Given the description of an element on the screen output the (x, y) to click on. 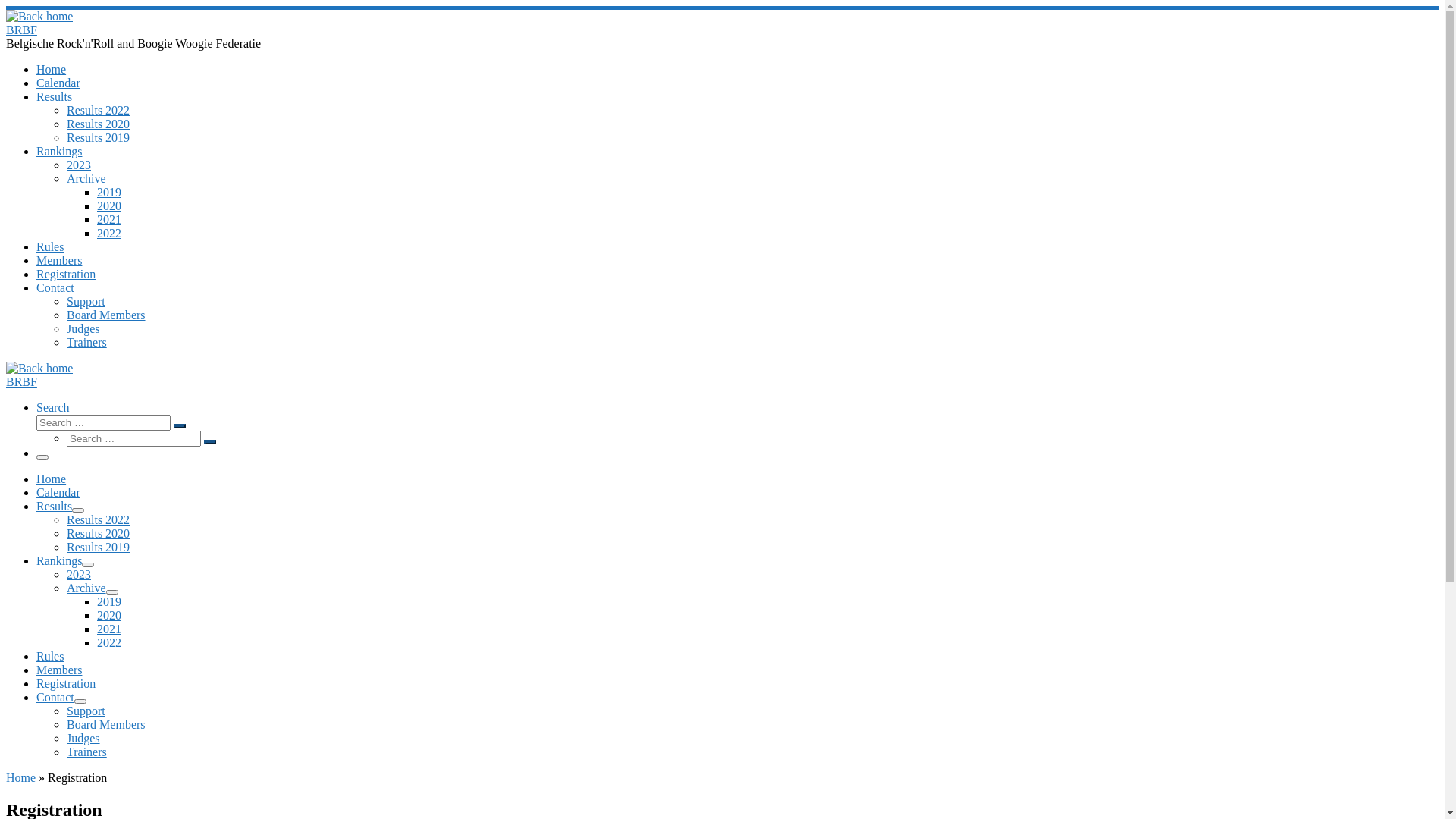
Rules Element type: text (49, 655)
Trainers Element type: text (86, 751)
Rankings Element type: text (58, 560)
Board Members Element type: text (105, 314)
2020 Element type: text (109, 614)
Home Element type: text (50, 478)
Results Element type: text (54, 96)
Calendar Element type: text (58, 82)
Contact Element type: text (55, 696)
Rules Element type: text (49, 246)
Home Element type: text (20, 777)
Registration Element type: text (65, 273)
2023 Element type: text (78, 573)
BRBF Element type: text (21, 29)
Results 2022 Element type: text (97, 109)
Results 2022 Element type: text (97, 519)
Judges Element type: text (83, 328)
2022 Element type: text (109, 642)
Results 2019 Element type: text (97, 546)
2023 Element type: text (78, 164)
Support Element type: text (85, 300)
2019 Element type: text (109, 191)
Members Element type: text (58, 260)
Archive Element type: text (86, 178)
BRBF Element type: text (21, 381)
Contact Element type: text (55, 287)
Members Element type: text (58, 669)
Skip to content Element type: text (5, 5)
Board Members Element type: text (105, 724)
2019 Element type: text (109, 601)
Results 2020 Element type: text (97, 123)
Results Element type: text (54, 505)
Registration Element type: text (65, 683)
Menu Element type: text (42, 457)
Calendar Element type: text (58, 492)
Trainers Element type: text (86, 341)
Results 2019 Element type: text (97, 137)
Support Element type: text (85, 710)
Judges Element type: text (83, 737)
Rankings Element type: text (58, 150)
2020 Element type: text (109, 205)
2022 Element type: text (109, 232)
Archive Element type: text (86, 587)
Search Element type: text (52, 407)
Results 2020 Element type: text (97, 533)
2021 Element type: text (109, 628)
2021 Element type: text (109, 219)
Home Element type: text (50, 68)
